Given the description of an element on the screen output the (x, y) to click on. 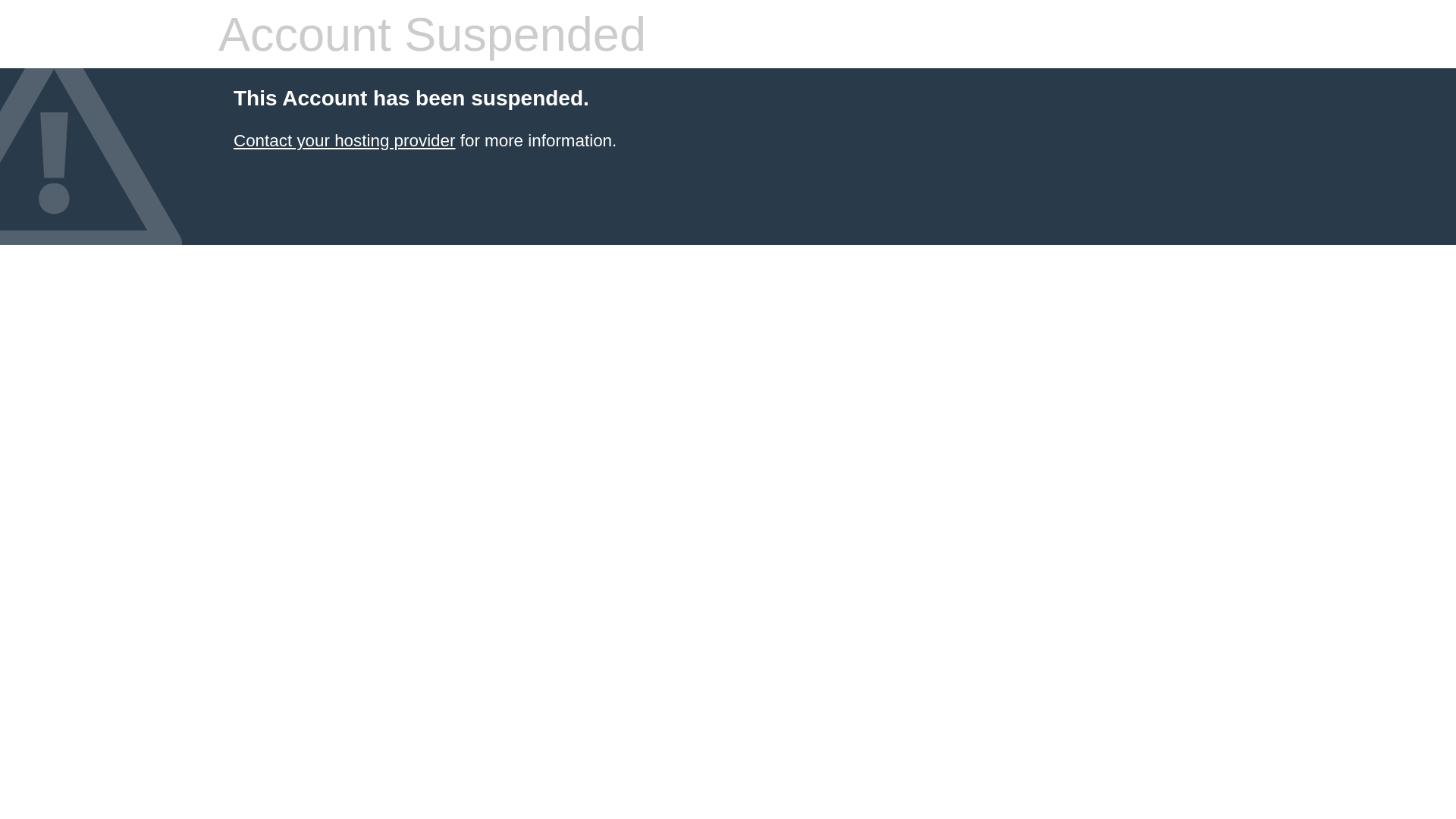
Contact your hosting provider Element type: text (344, 140)
